Given the description of an element on the screen output the (x, y) to click on. 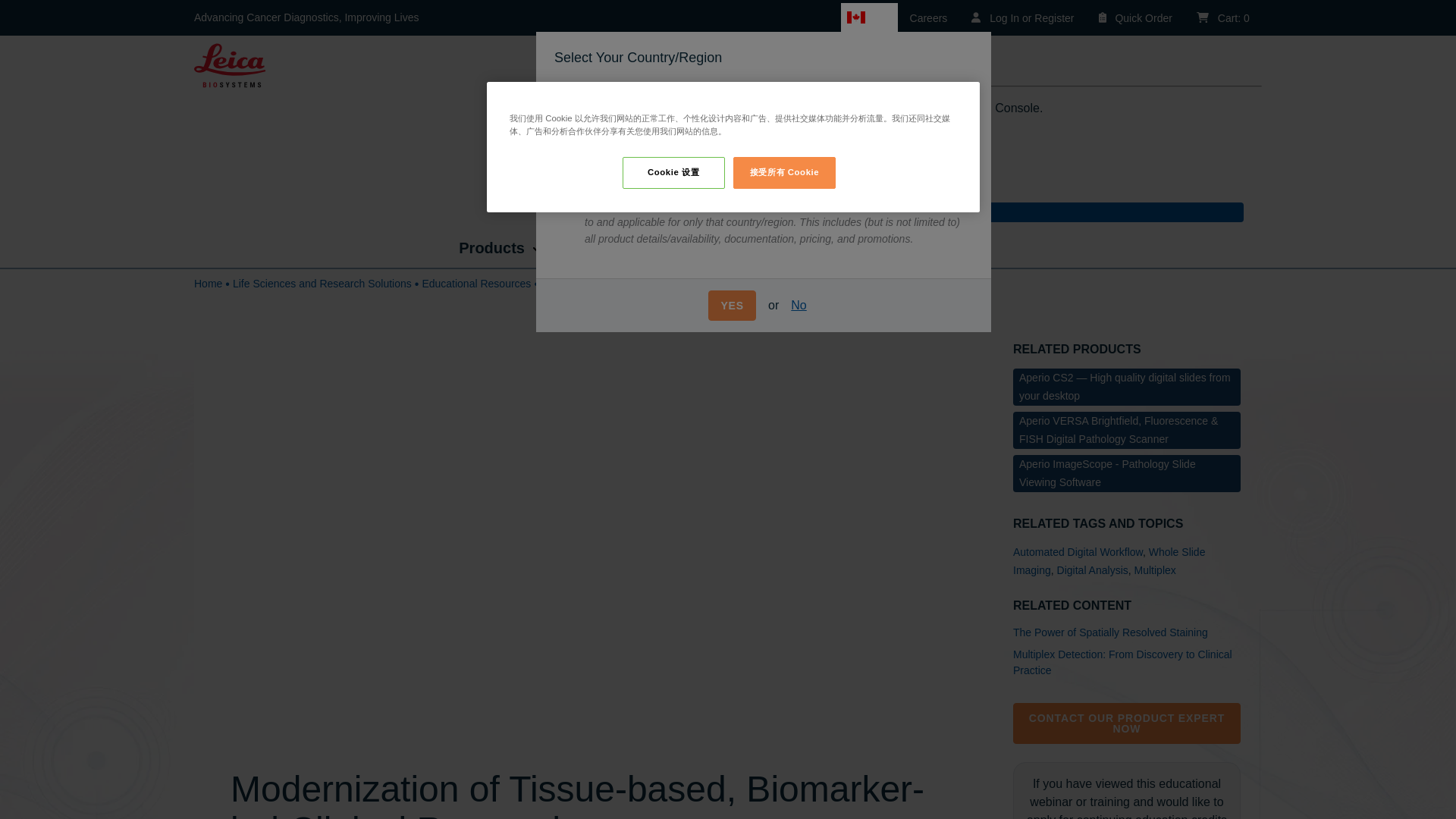
Careers (928, 17)
YES (731, 305)
No (798, 305)
Log In or Register (1022, 17)
Home (229, 63)
CA (868, 17)
Cart: 0 (1223, 17)
Quick Order (1135, 17)
